Given the description of an element on the screen output the (x, y) to click on. 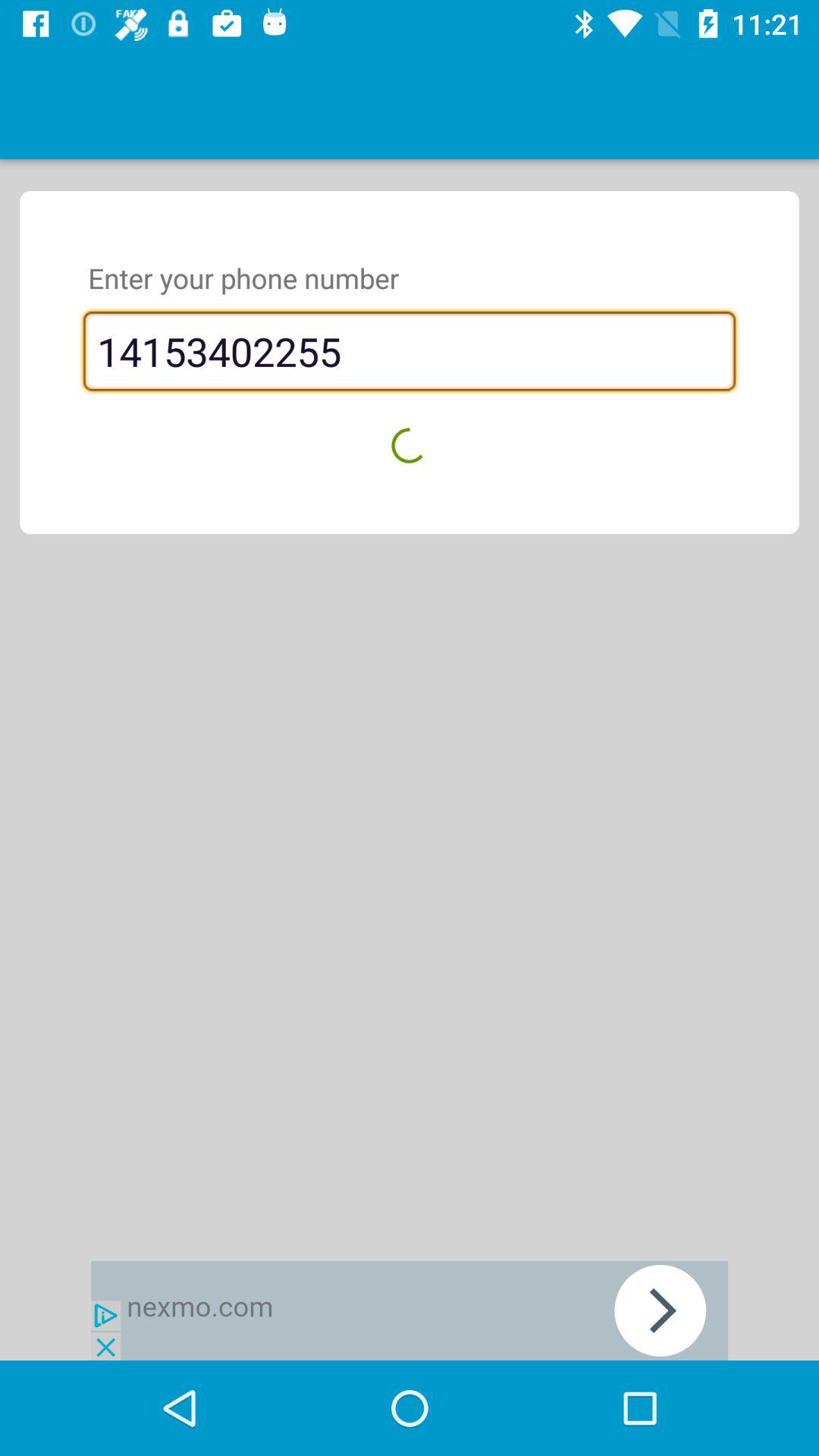
advertisement (409, 1310)
